Given the description of an element on the screen output the (x, y) to click on. 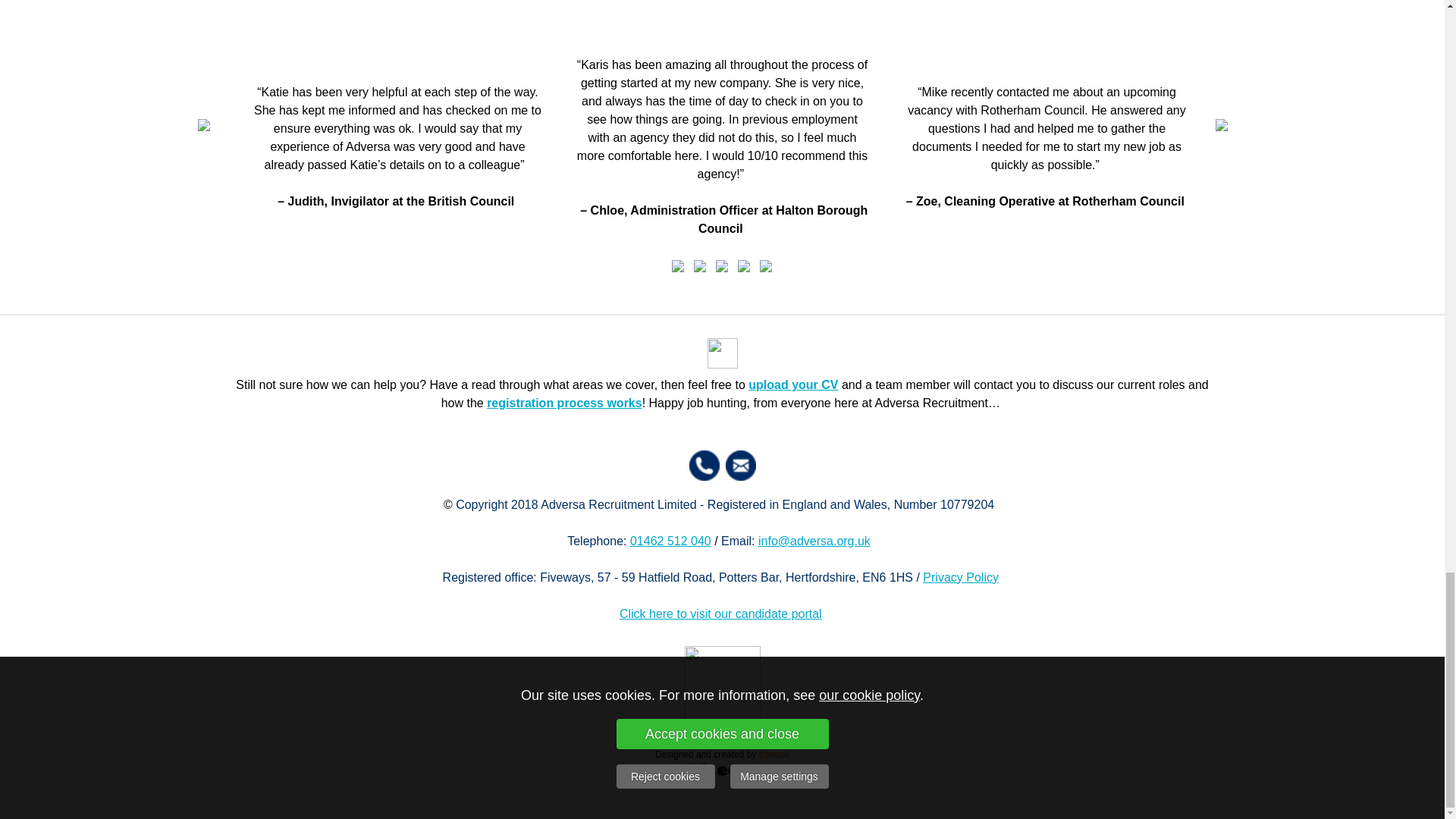
01462 512 040 (670, 540)
registration process works (564, 402)
upload your CV (793, 384)
